Given the description of an element on the screen output the (x, y) to click on. 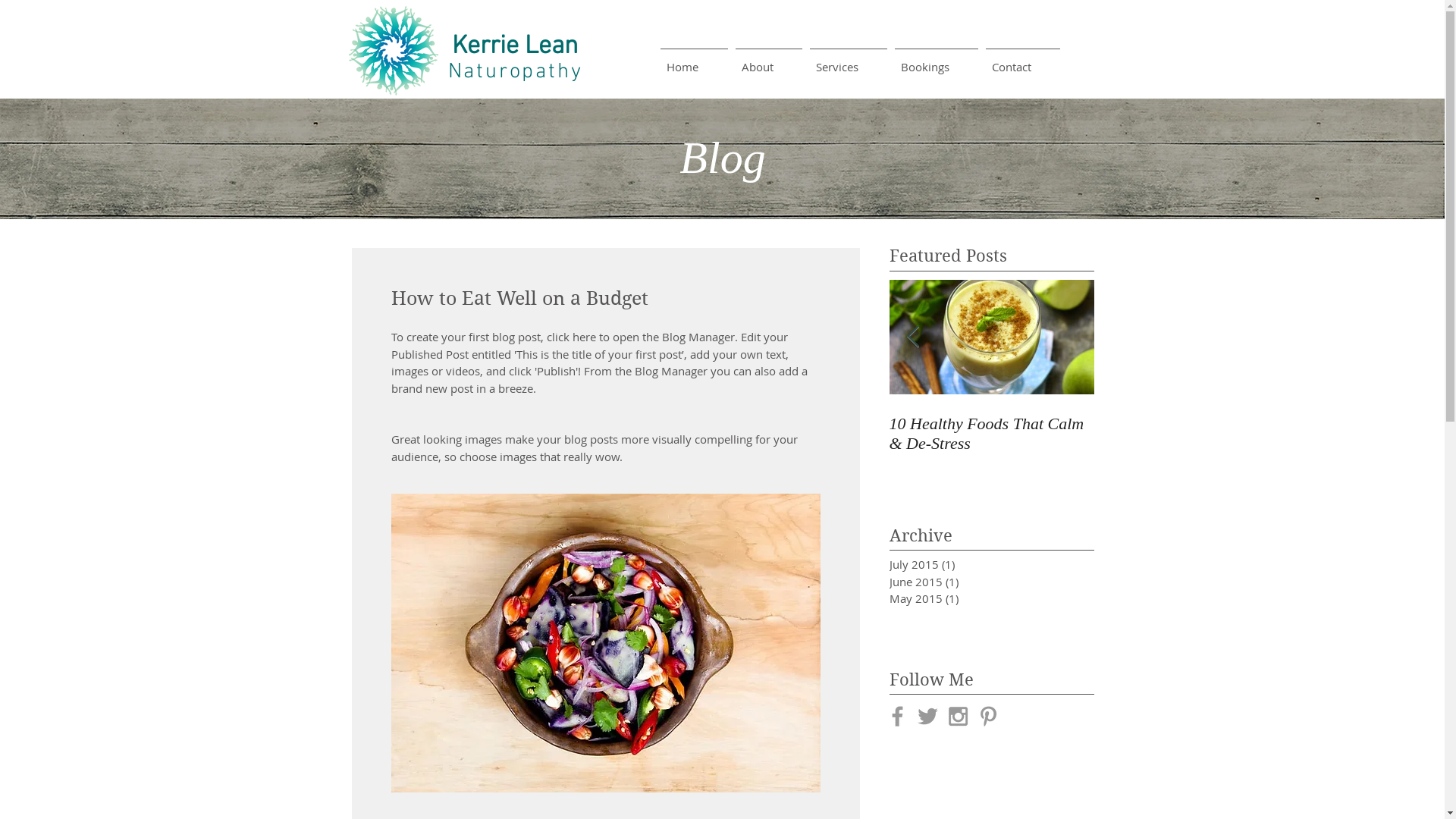
KERRIE LEAN mandala lone copy.png Element type: hover (393, 50)
Contact Element type: text (1022, 59)
Naturopathy Element type: text (515, 71)
10 Healthy Foods That Calm & De-Stress Element type: text (990, 433)
Kerrie Lean Element type: text (514, 42)
Home Element type: text (693, 59)
June 2015 (1) Element type: text (968, 581)
May 2015 (1) Element type: text (968, 598)
About Element type: text (768, 59)
Bookings Element type: text (935, 59)
July 2015 (1) Element type: text (968, 564)
Recipe: Mushroom and Chickpea Stew Element type: text (786, 433)
Services Element type: text (847, 59)
